Given the description of an element on the screen output the (x, y) to click on. 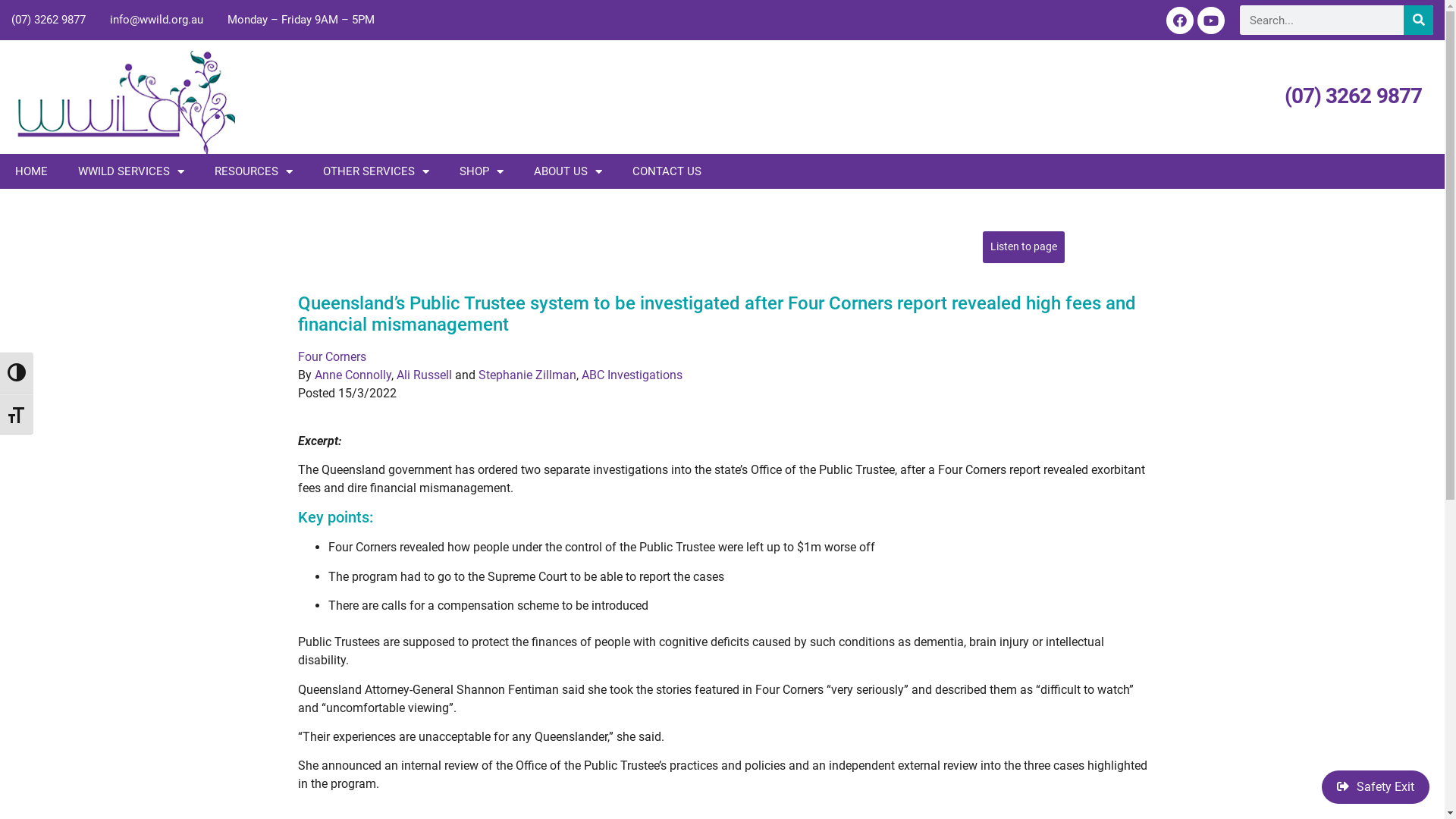
HOME Element type: text (31, 170)
Toggle High Contrast Element type: text (16, 371)
ABOUT US Element type: text (567, 170)
Stephanie Zillman Element type: text (526, 374)
Ali Russell Element type: text (423, 374)
Toggle Font size Element type: text (16, 413)
Safety Exit Element type: text (1375, 786)
OTHER SERVICES Element type: text (375, 170)
WWILD SERVICES Element type: text (130, 170)
ABC Investigations Element type: text (630, 374)
Four Corners Element type: text (331, 356)
CONTACT US Element type: text (666, 170)
Listen to page Element type: text (1023, 247)
Anne Connolly Element type: text (351, 374)
SHOP Element type: text (481, 170)
RESOURCES Element type: text (253, 170)
